Given the description of an element on the screen output the (x, y) to click on. 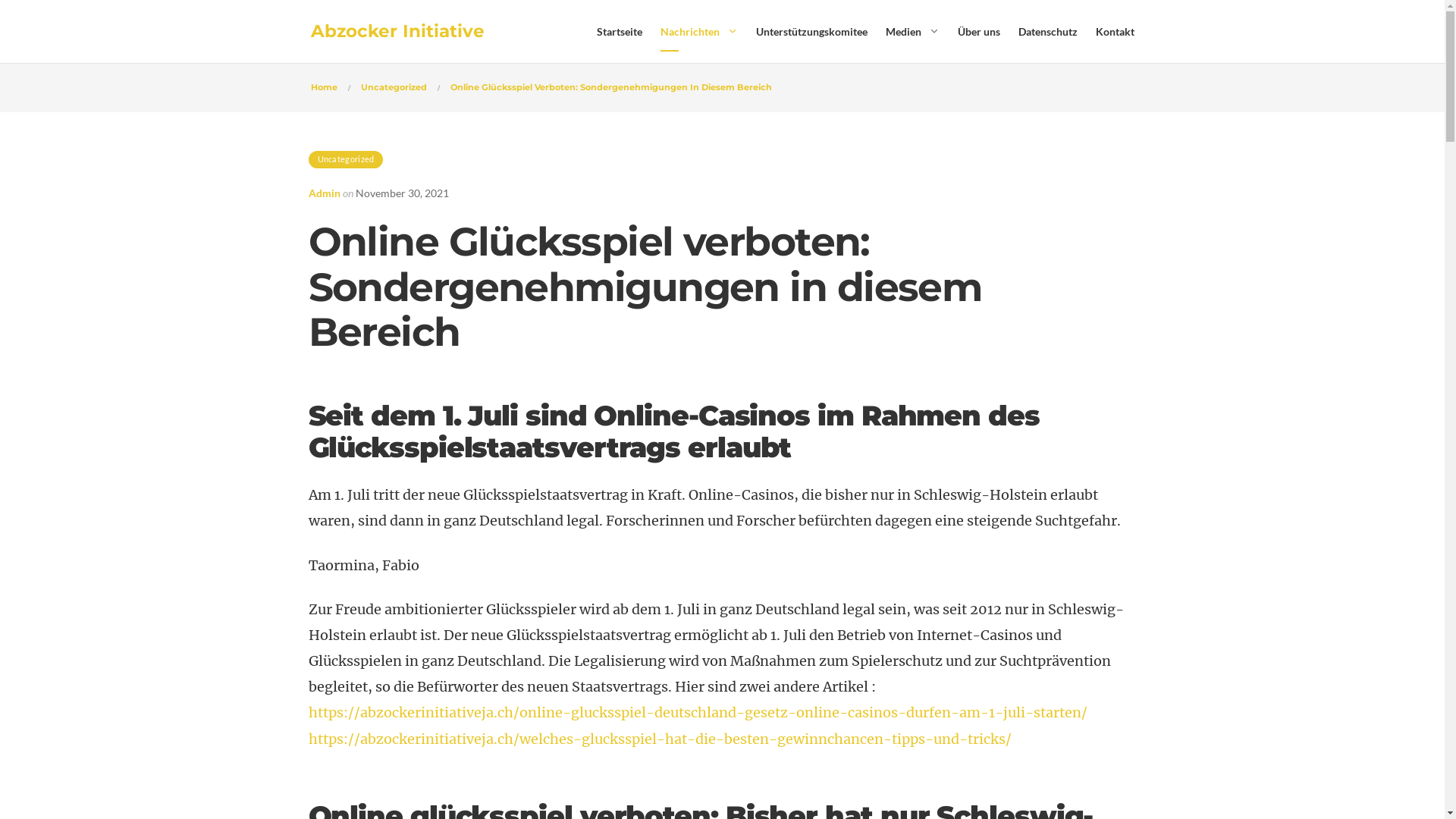
Datenschutz Element type: text (1046, 30)
Kontakt Element type: text (1113, 30)
Nachrichten Element type: text (689, 30)
Startseite Element type: text (618, 30)
Abzocker Initiative Element type: text (397, 31)
Admin Element type: text (323, 192)
Uncategorized Element type: text (393, 86)
Uncategorized Element type: text (344, 159)
Medien Element type: text (903, 30)
Home Element type: text (323, 86)
